Given the description of an element on the screen output the (x, y) to click on. 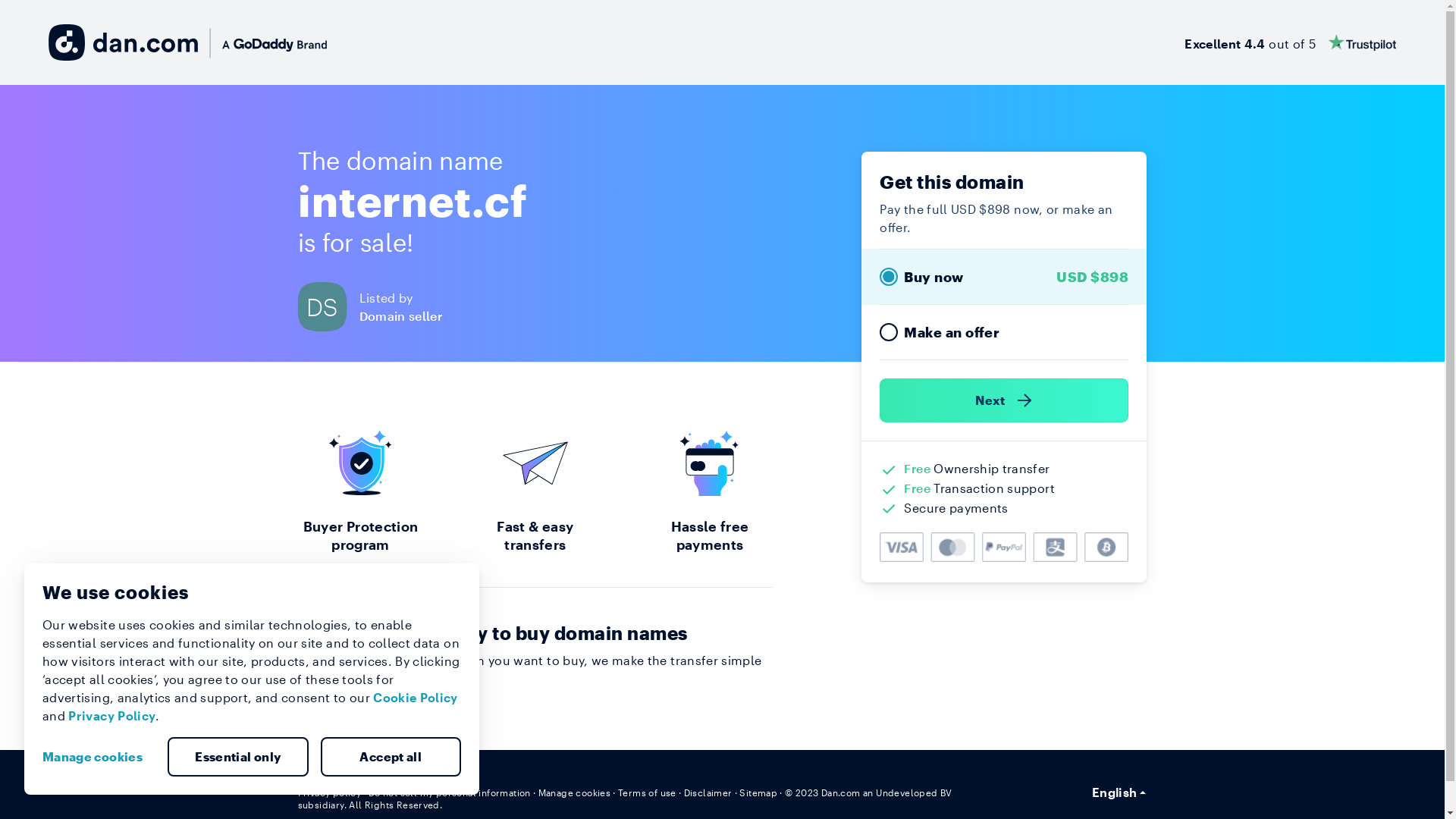
Manage cookies Element type: text (98, 756)
Do not sell my personal information Element type: text (449, 792)
Excellent 4.4 out of 5 Element type: text (1290, 42)
Cookie Policy Element type: text (415, 697)
Manage cookies Element type: text (574, 792)
Accept all Element type: text (390, 756)
Terms of use Element type: text (647, 792)
Privacy Policy Element type: text (111, 715)
Privacy policy Element type: text (328, 792)
English Element type: text (1119, 792)
Next
) Element type: text (1003, 400)
Disclaimer Element type: text (708, 792)
Sitemap Element type: text (758, 792)
Essential only Element type: text (237, 756)
DS Element type: text (327, 306)
